Given the description of an element on the screen output the (x, y) to click on. 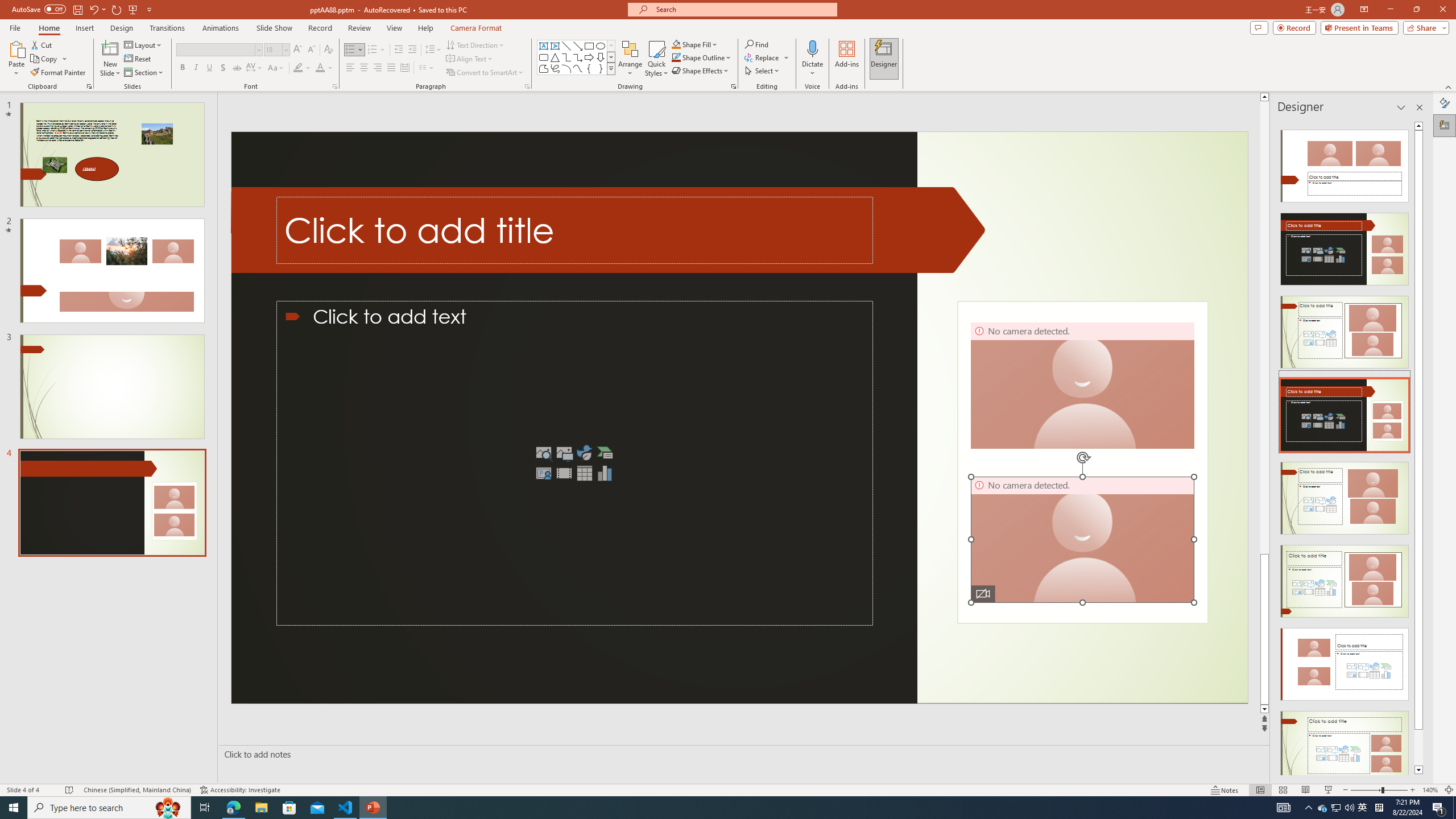
Accessibility Checker Accessibility: Investigate (240, 790)
Task Pane Options (1400, 107)
Find... (756, 44)
Insert Table (584, 473)
Class: NetUIScrollBar (1418, 447)
Shadow (223, 67)
Font... (334, 85)
Underline (209, 67)
